Given the description of an element on the screen output the (x, y) to click on. 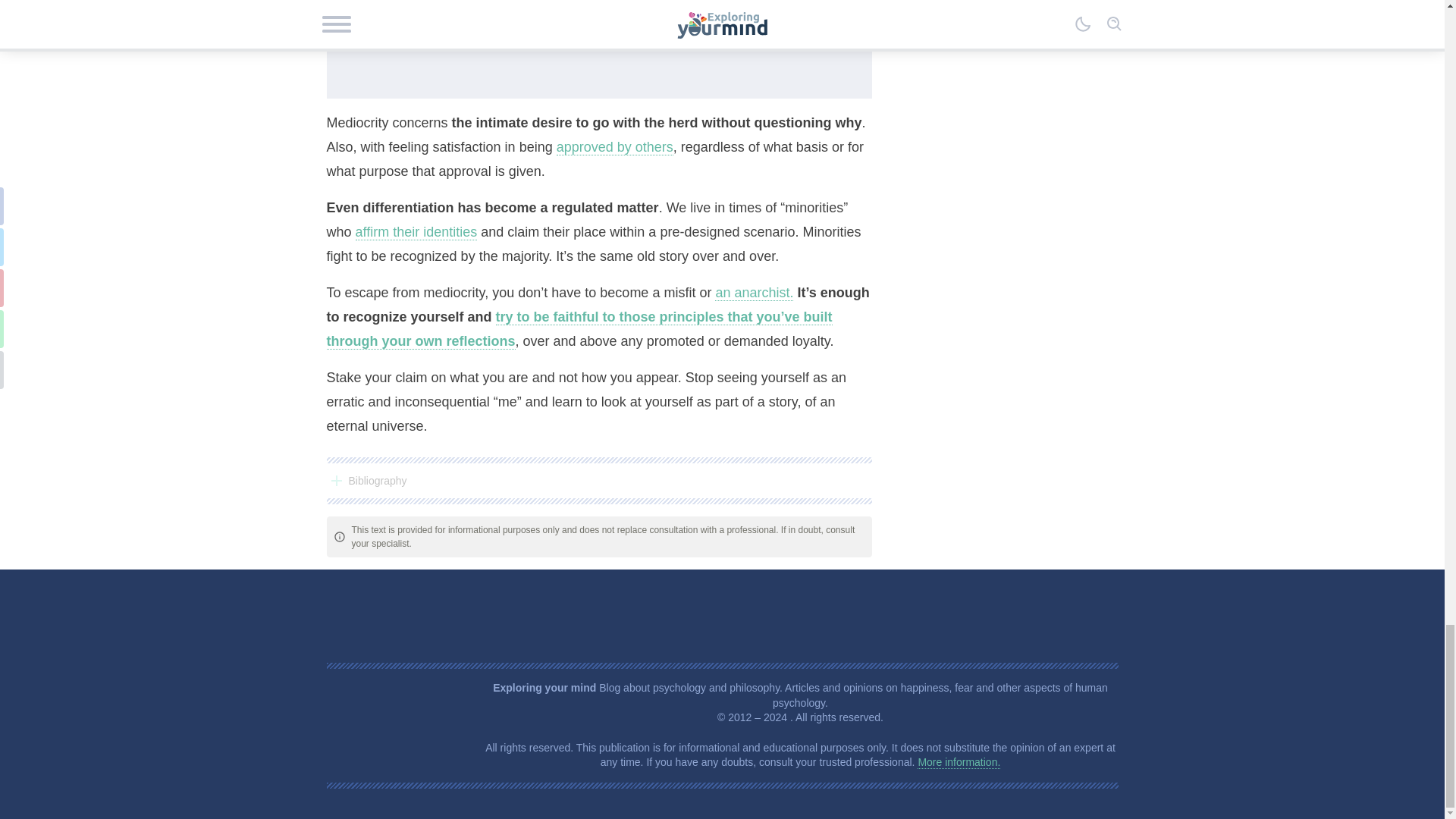
approved by others (614, 147)
Bibliography (598, 480)
an anarchist. (753, 293)
affirm their identities (416, 232)
More information. (958, 762)
